Given the description of an element on the screen output the (x, y) to click on. 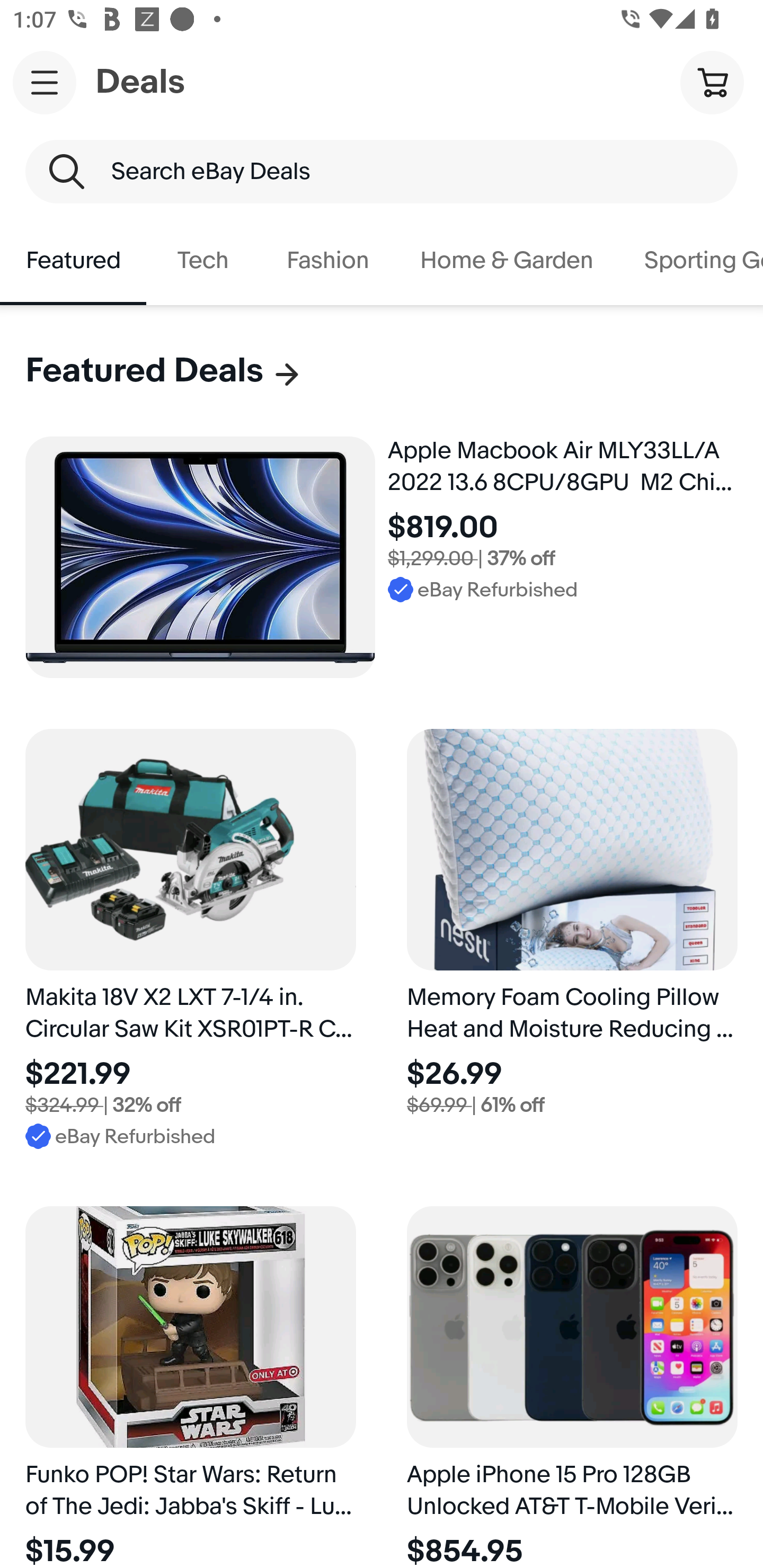
Main navigation, open (44, 82)
Cart button shopping cart (711, 81)
Search eBay Deals Search Keyword Search eBay Deals (381, 171)
Tech. Button. 2 of 7. Tech (203, 260)
Fashion. Button. 3 of 7. Fashion (327, 260)
Home & Garden. Button. 4 of 7. Home & Garden (506, 260)
Sporting Goods. Button. 5 of 7. Sporting Goods (690, 260)
Featured Deals   Featured Deals,7 items (163, 370)
